Given the description of an element on the screen output the (x, y) to click on. 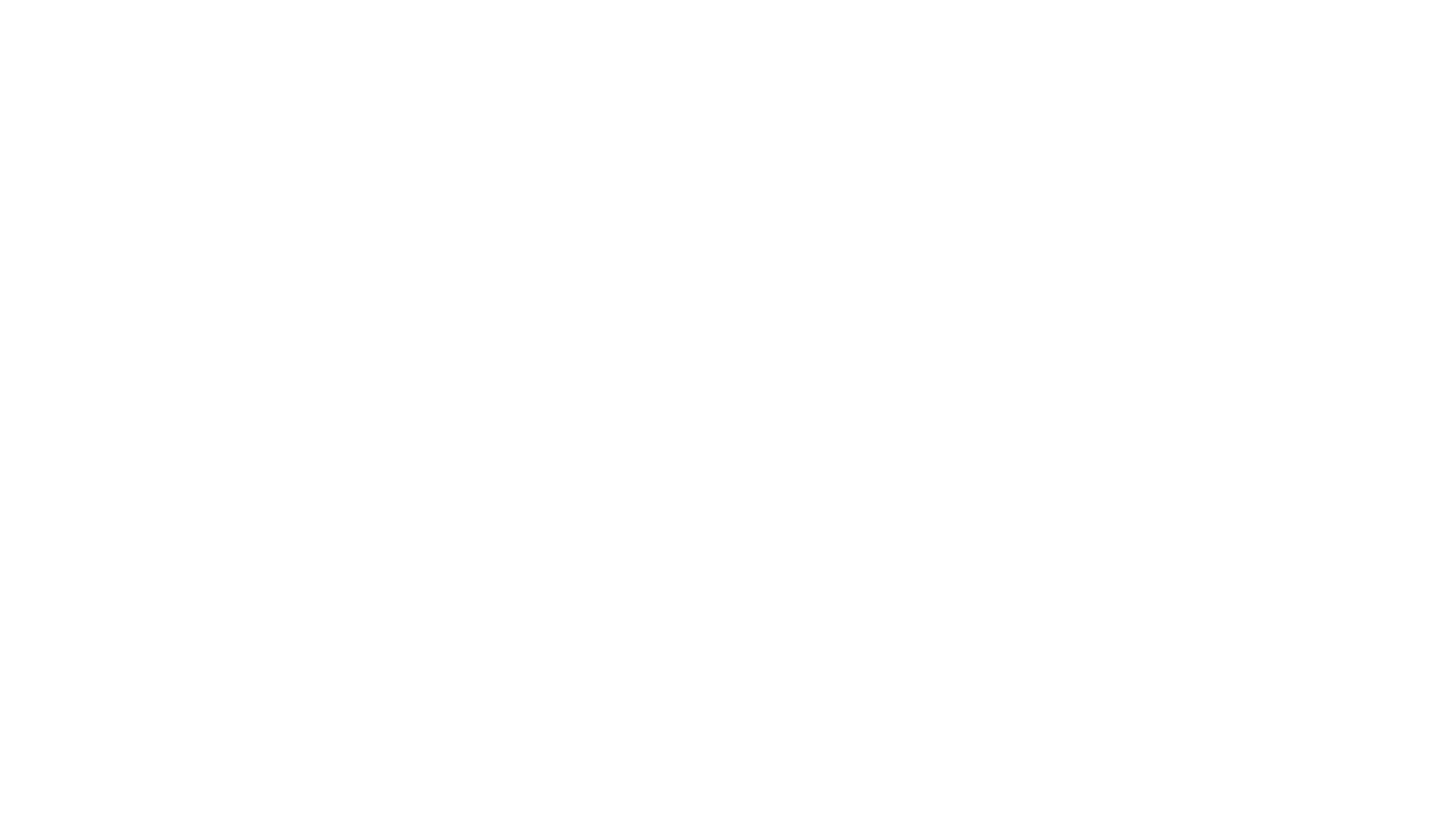
Cloudflare Element type: text (798, 799)
